Given the description of an element on the screen output the (x, y) to click on. 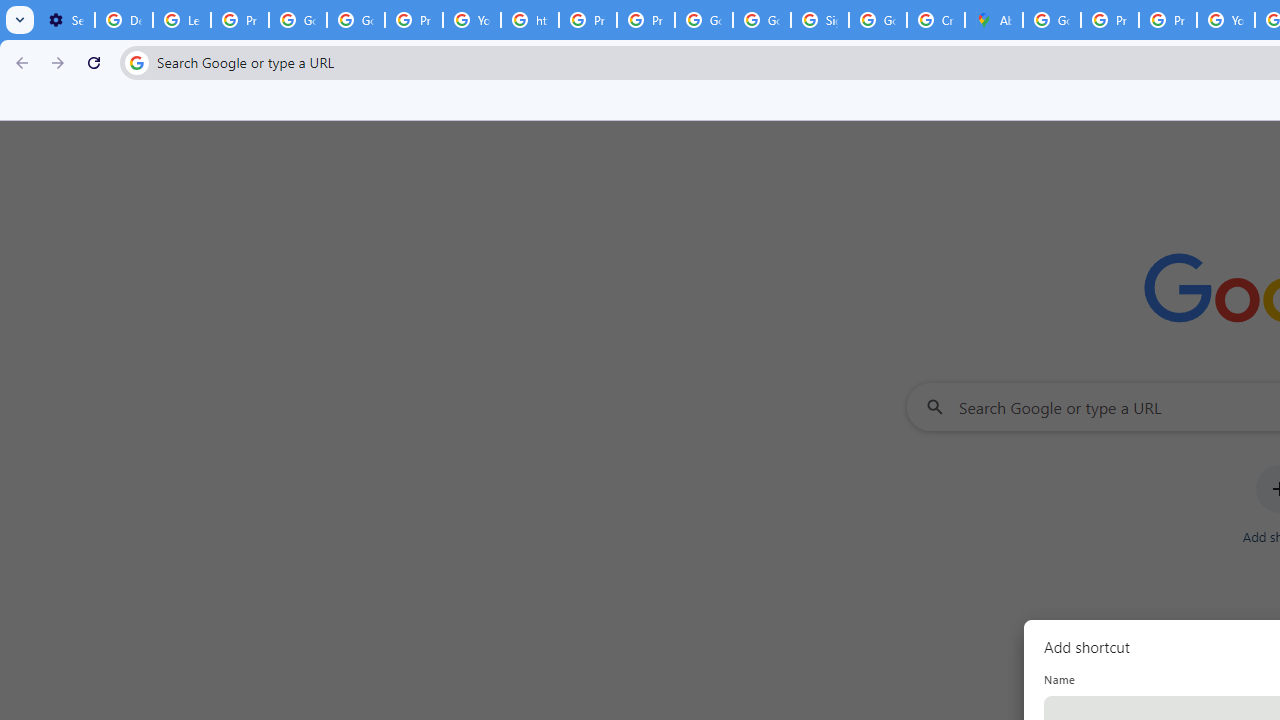
Create your Google Account (936, 20)
Sign in - Google Accounts (819, 20)
Delete photos & videos - Computer - Google Photos Help (123, 20)
